Given the description of an element on the screen output the (x, y) to click on. 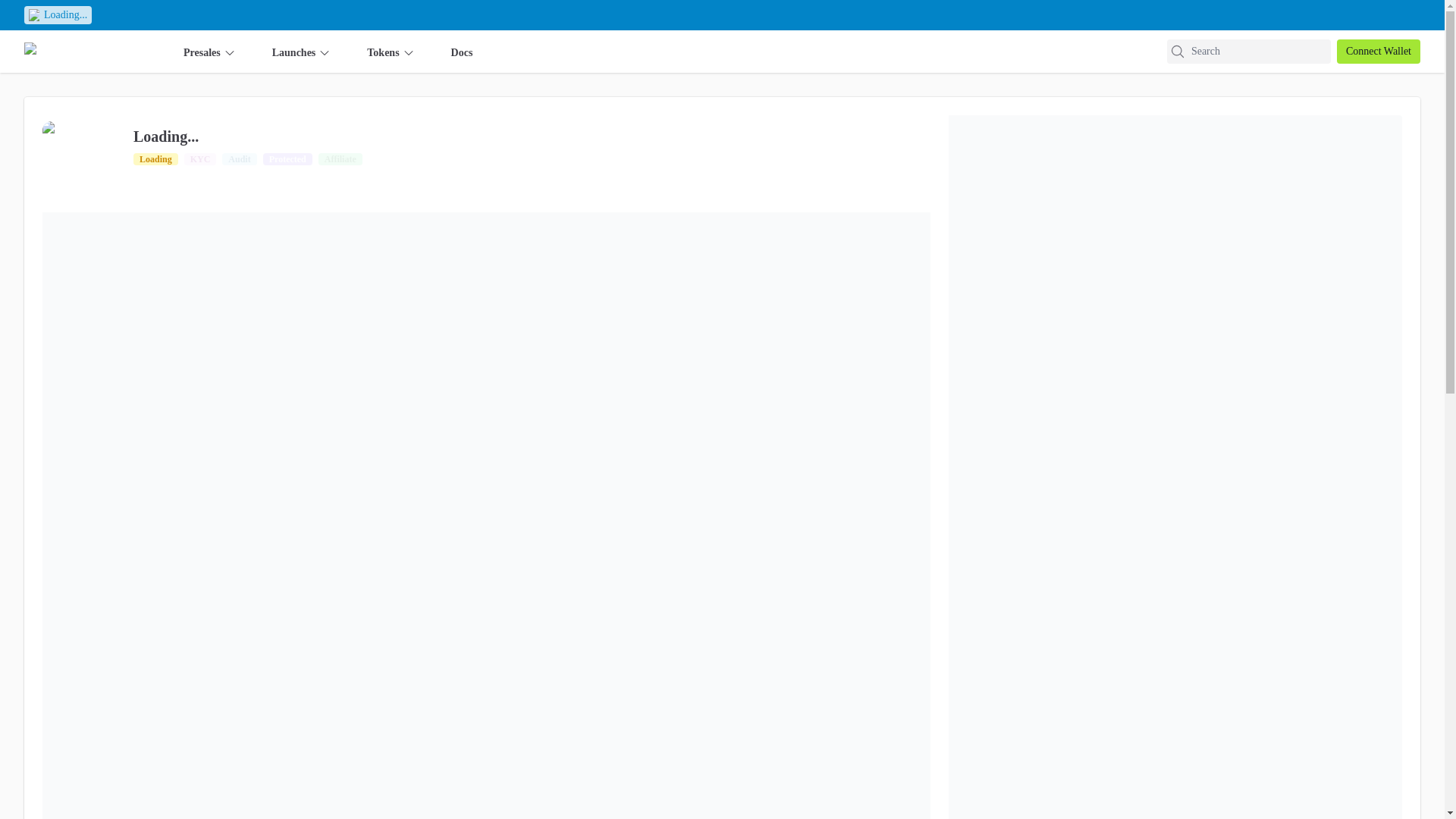
Launches (301, 51)
Docs (462, 51)
Presales (209, 51)
Tokens (389, 51)
